Given the description of an element on the screen output the (x, y) to click on. 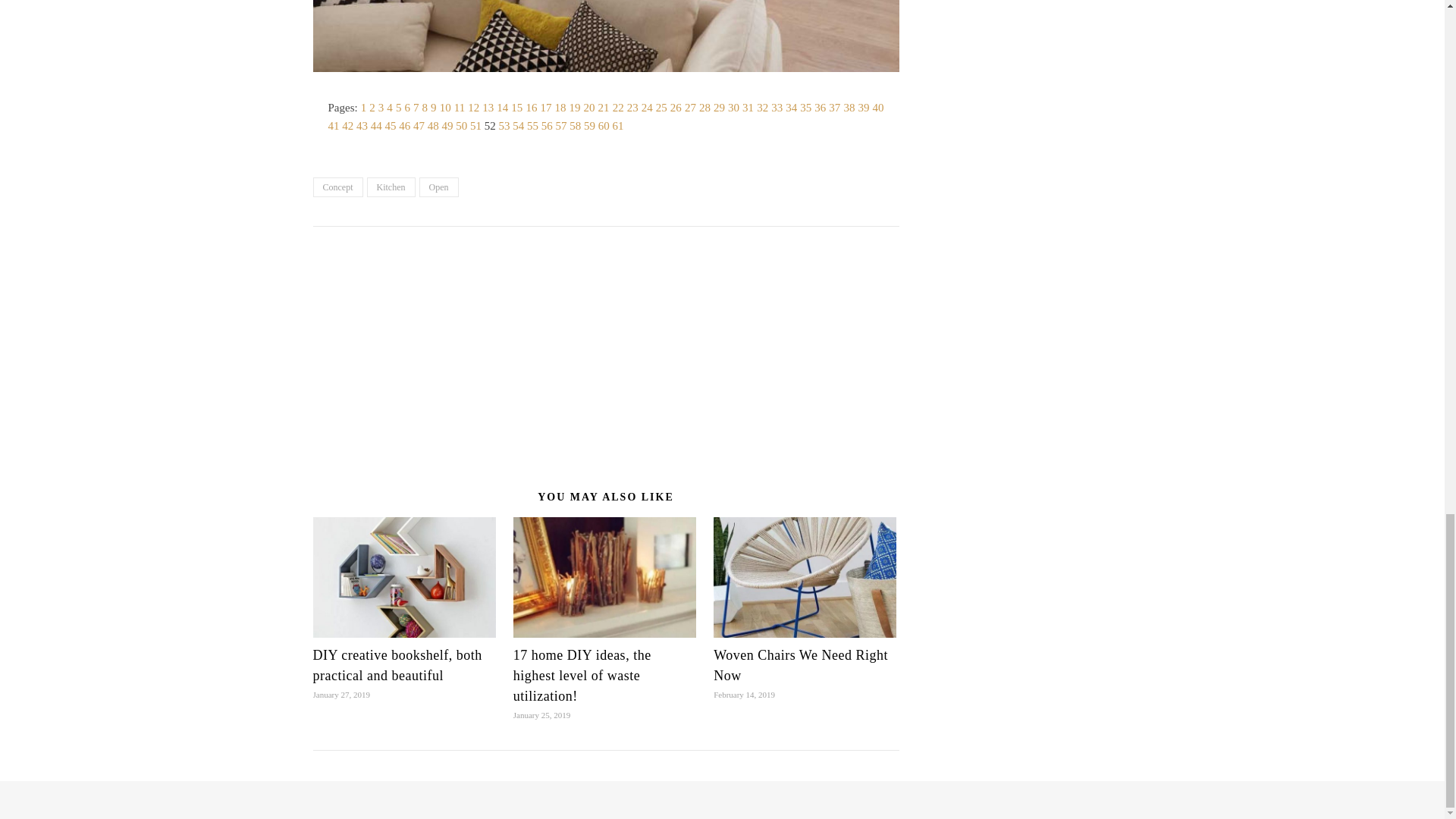
13 (487, 107)
15 (516, 107)
2 (372, 107)
4 (390, 107)
10 (445, 107)
16 (531, 107)
7 (416, 107)
14 (502, 107)
18 (560, 107)
5 (398, 107)
11 (459, 107)
8 (425, 107)
9 (433, 107)
3 (381, 107)
6 (407, 107)
